Given the description of an element on the screen output the (x, y) to click on. 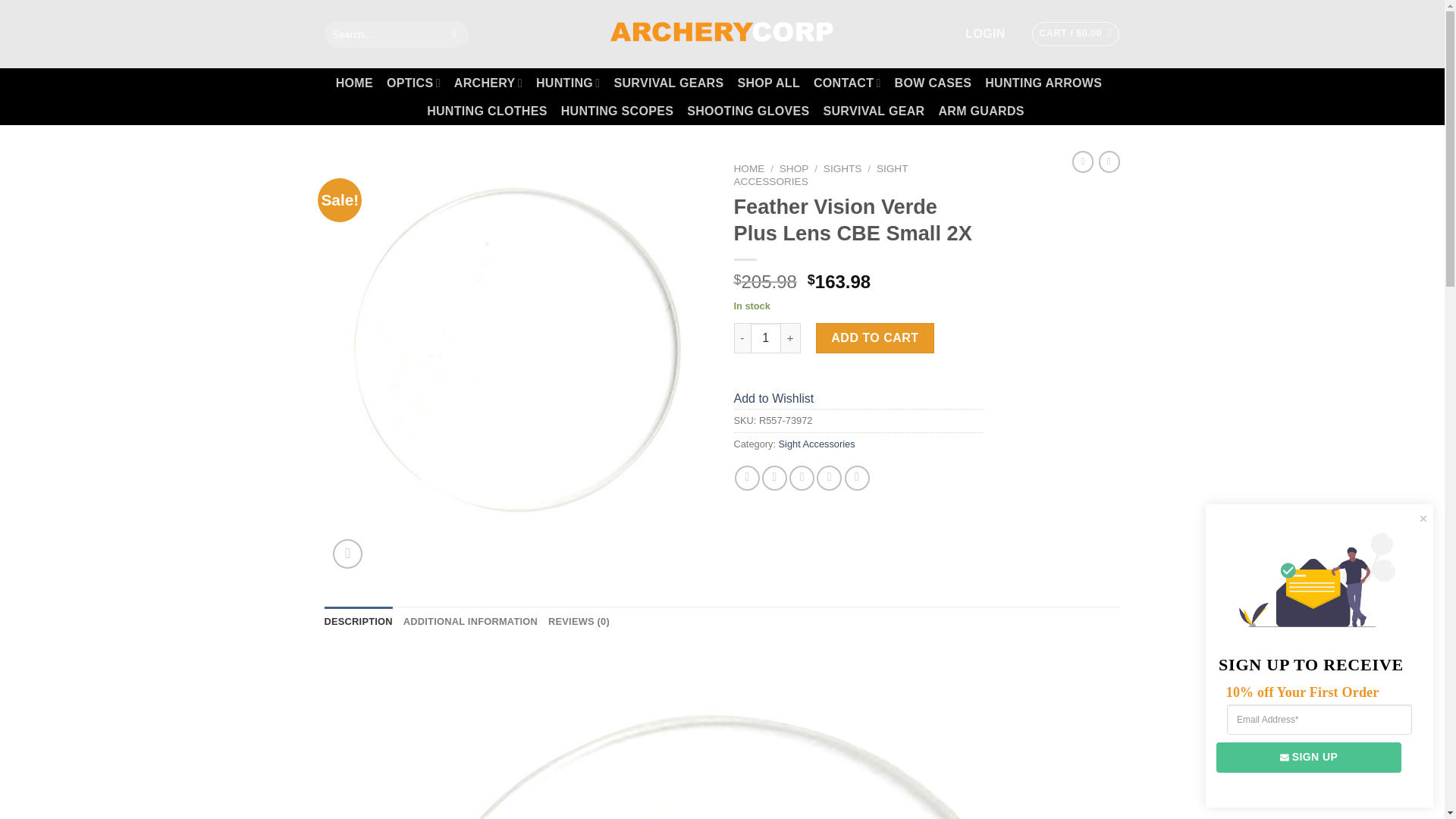
1 (765, 337)
Search (454, 33)
Archery Corp - Gear Up for New Adventure! (722, 33)
Feather Vision Verde Plus Lens CBE Small 2X (721, 734)
OPTICS (414, 82)
HOME (354, 83)
ARCHERY (488, 82)
HUNTING (567, 82)
Cart (1075, 33)
LOGIN (984, 33)
Qty (765, 337)
